Given the description of an element on the screen output the (x, y) to click on. 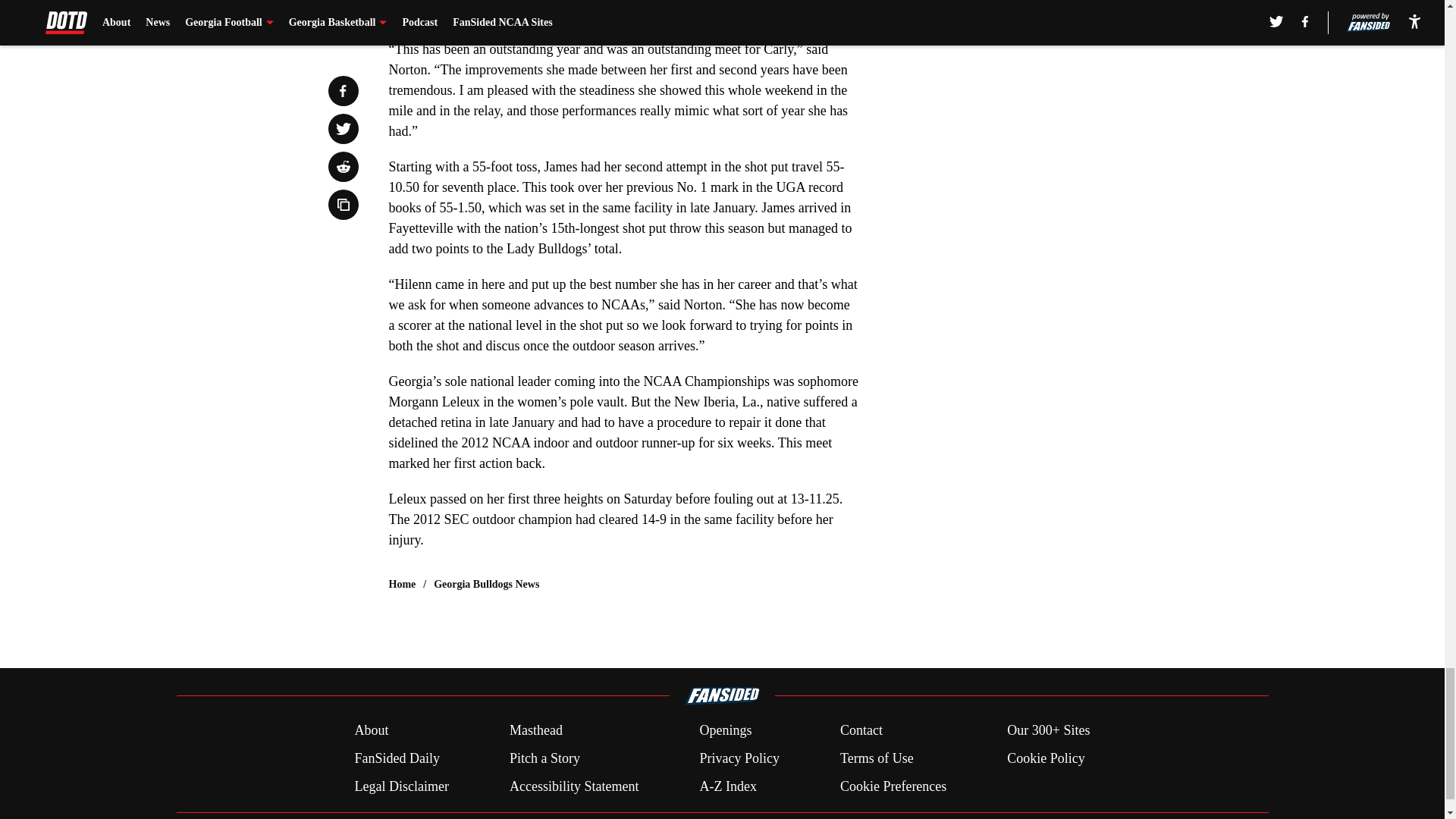
Georgia Bulldogs News (485, 584)
Masthead (535, 730)
Cookie Policy (1045, 758)
Privacy Policy (738, 758)
Terms of Use (877, 758)
Cookie Preferences (893, 786)
Accessibility Statement (574, 786)
Openings (724, 730)
Pitch a Story (544, 758)
A-Z Index (726, 786)
Contact (861, 730)
FanSided Daily (396, 758)
About (370, 730)
Home (401, 584)
Legal Disclaimer (400, 786)
